Given the description of an element on the screen output the (x, y) to click on. 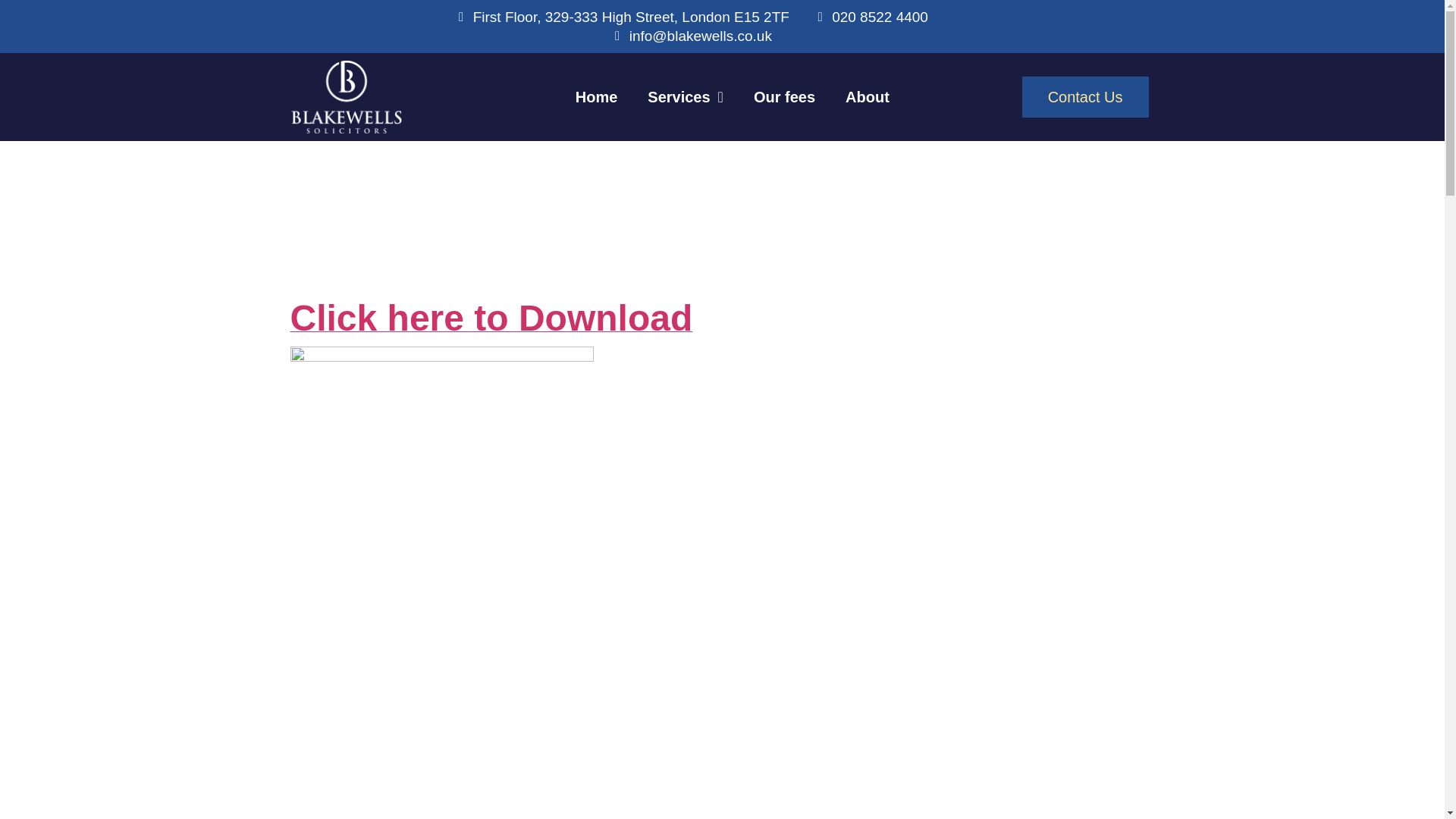
Contact Us (1085, 96)
Services (684, 96)
Our fees (783, 96)
020 8522 4400 (870, 16)
Click here to Download (491, 325)
About (866, 96)
Home (596, 96)
